Given the description of an element on the screen output the (x, y) to click on. 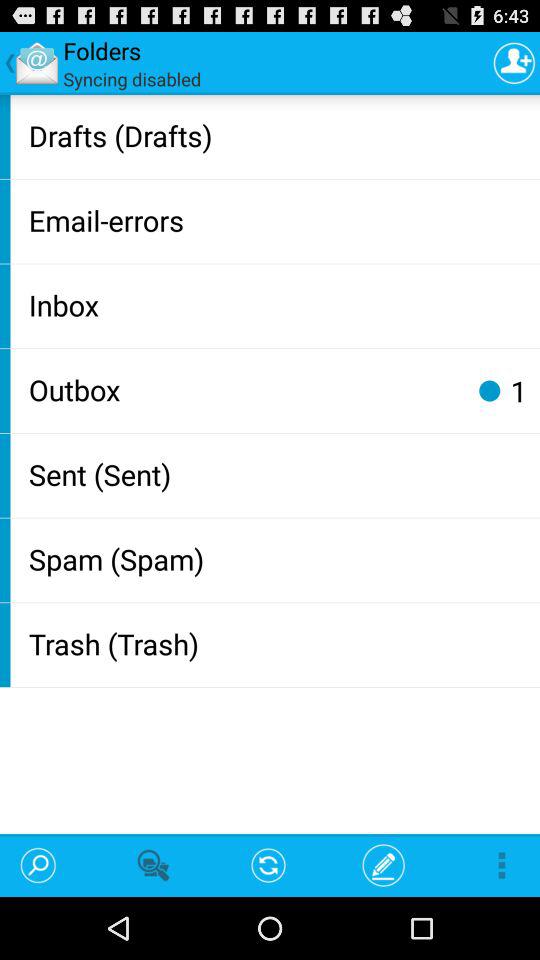
flip to spam (spam) icon (280, 558)
